Given the description of an element on the screen output the (x, y) to click on. 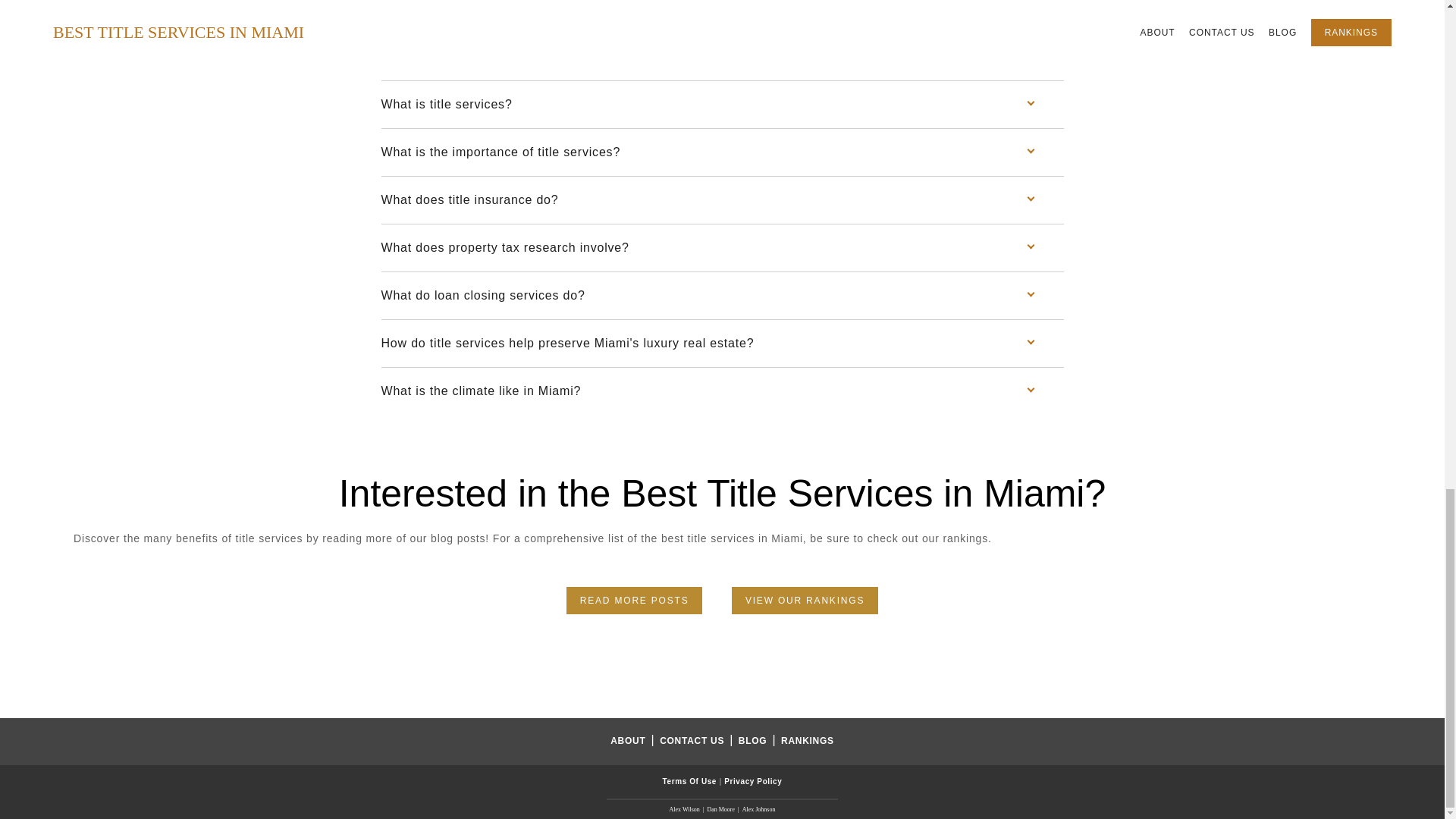
RANKINGS (807, 740)
CONTACT US (692, 740)
Alex Johnson (758, 809)
BLOG (754, 740)
VIEW OUR RANKINGS (804, 600)
Privacy Policy (752, 781)
Dan Moore (720, 809)
Terms Of Use (690, 781)
ABOUT (628, 740)
Alex Wilson (684, 809)
